Given the description of an element on the screen output the (x, y) to click on. 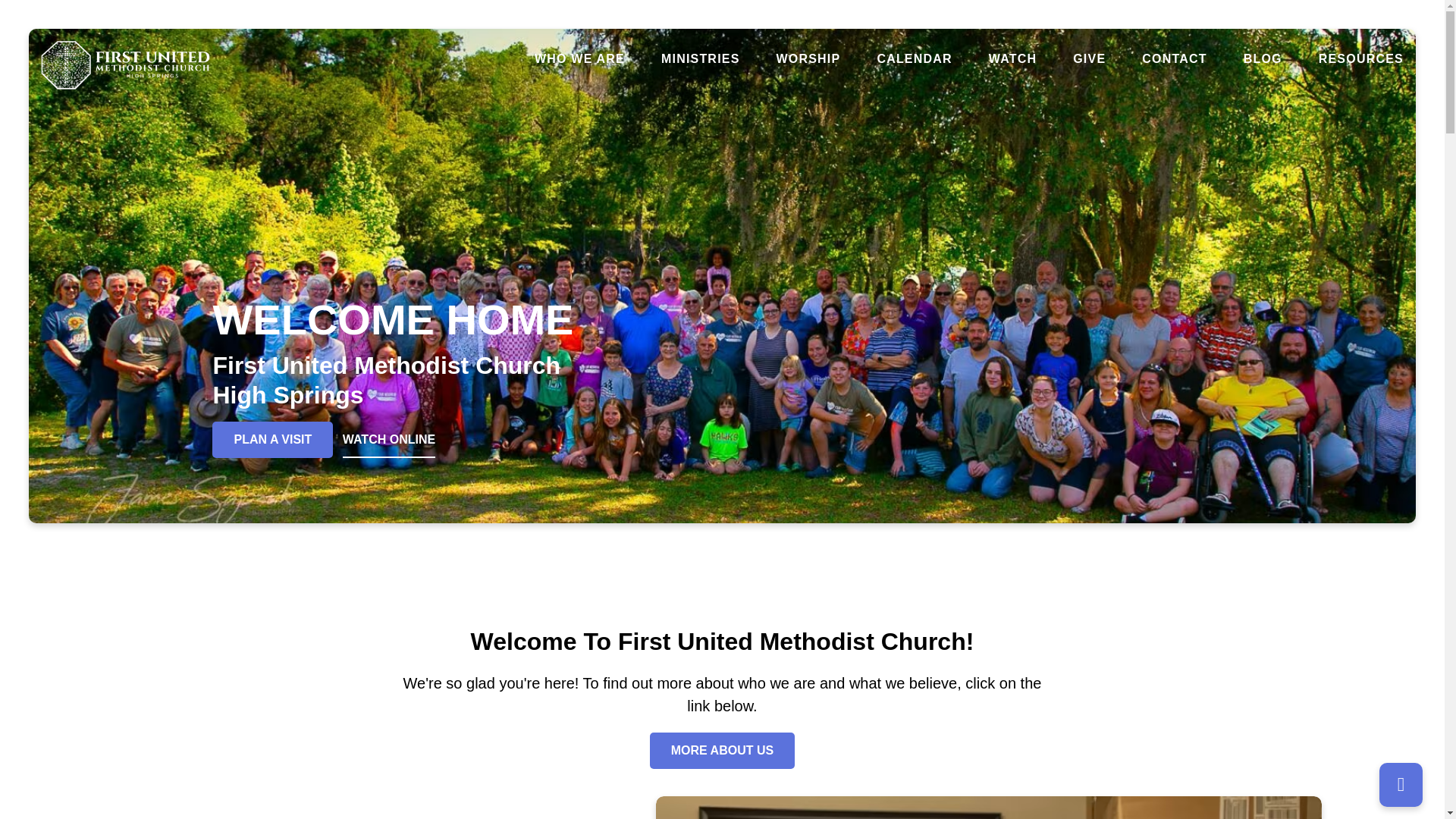
BLOG (1262, 59)
MORE ABOUT US (721, 750)
WATCH ONLINE (388, 439)
MINISTRIES (700, 59)
WHO WE ARE (579, 59)
CALENDAR (914, 59)
WORSHIP (808, 59)
RESOURCES (1361, 59)
CONTACT (1174, 59)
GIVE (1089, 59)
WATCH (1012, 59)
PLAN A VISIT (272, 439)
